Given the description of an element on the screen output the (x, y) to click on. 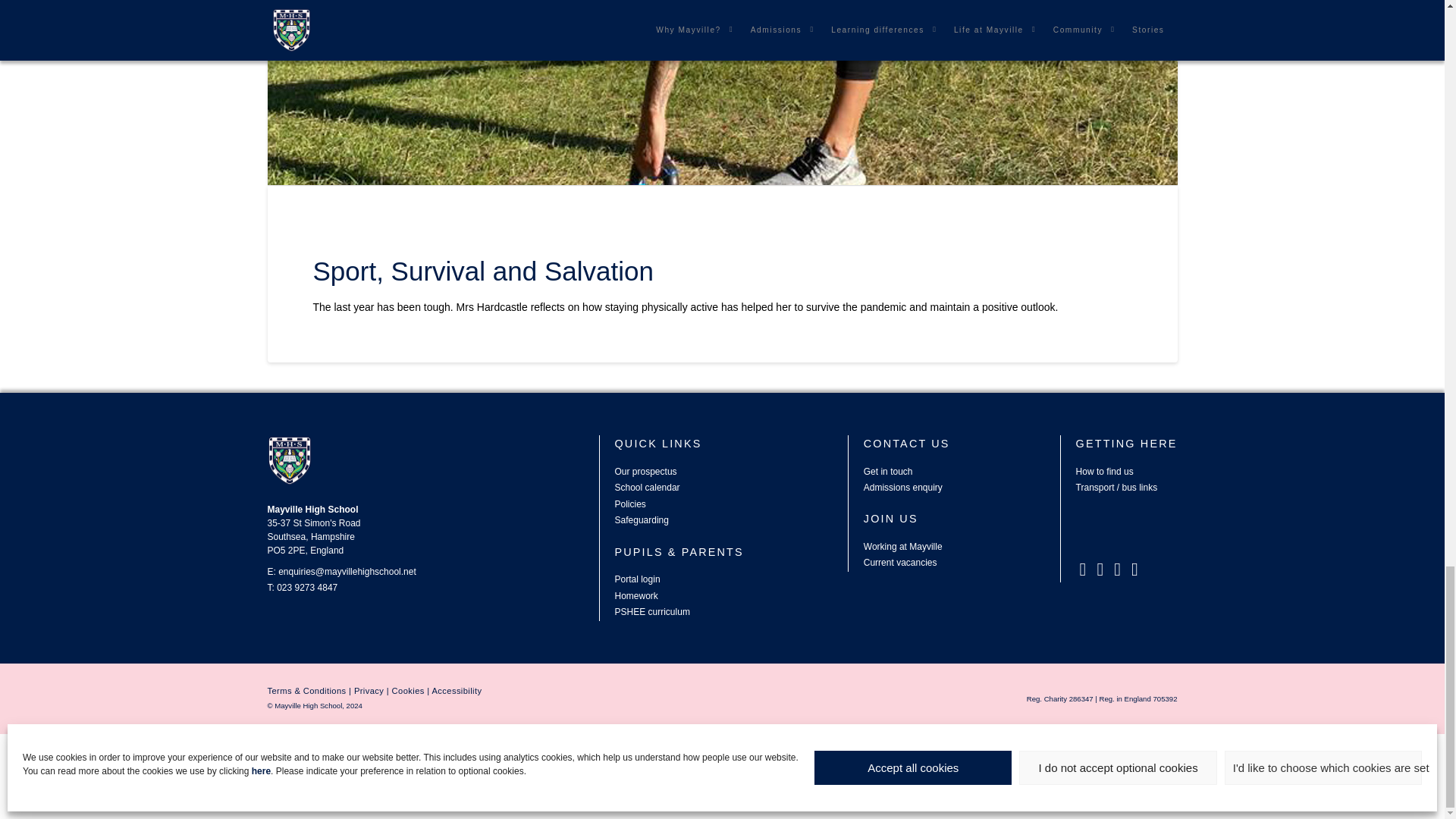
Permalink to: "Sport, Survival and Salvation" (482, 270)
